Given the description of an element on the screen output the (x, y) to click on. 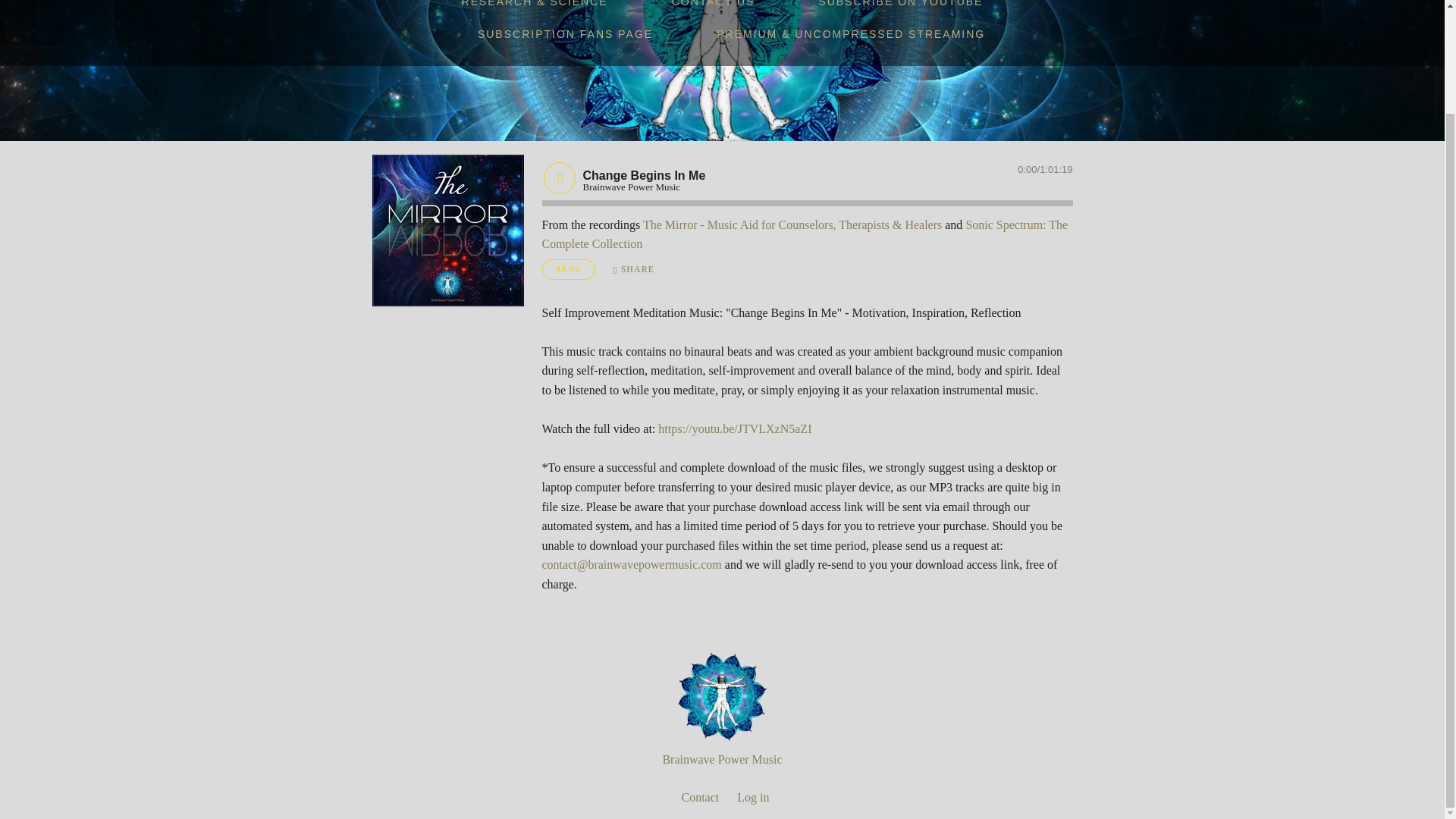
Share Change Begins In Me (633, 269)
Play (558, 177)
